Given the description of an element on the screen output the (x, y) to click on. 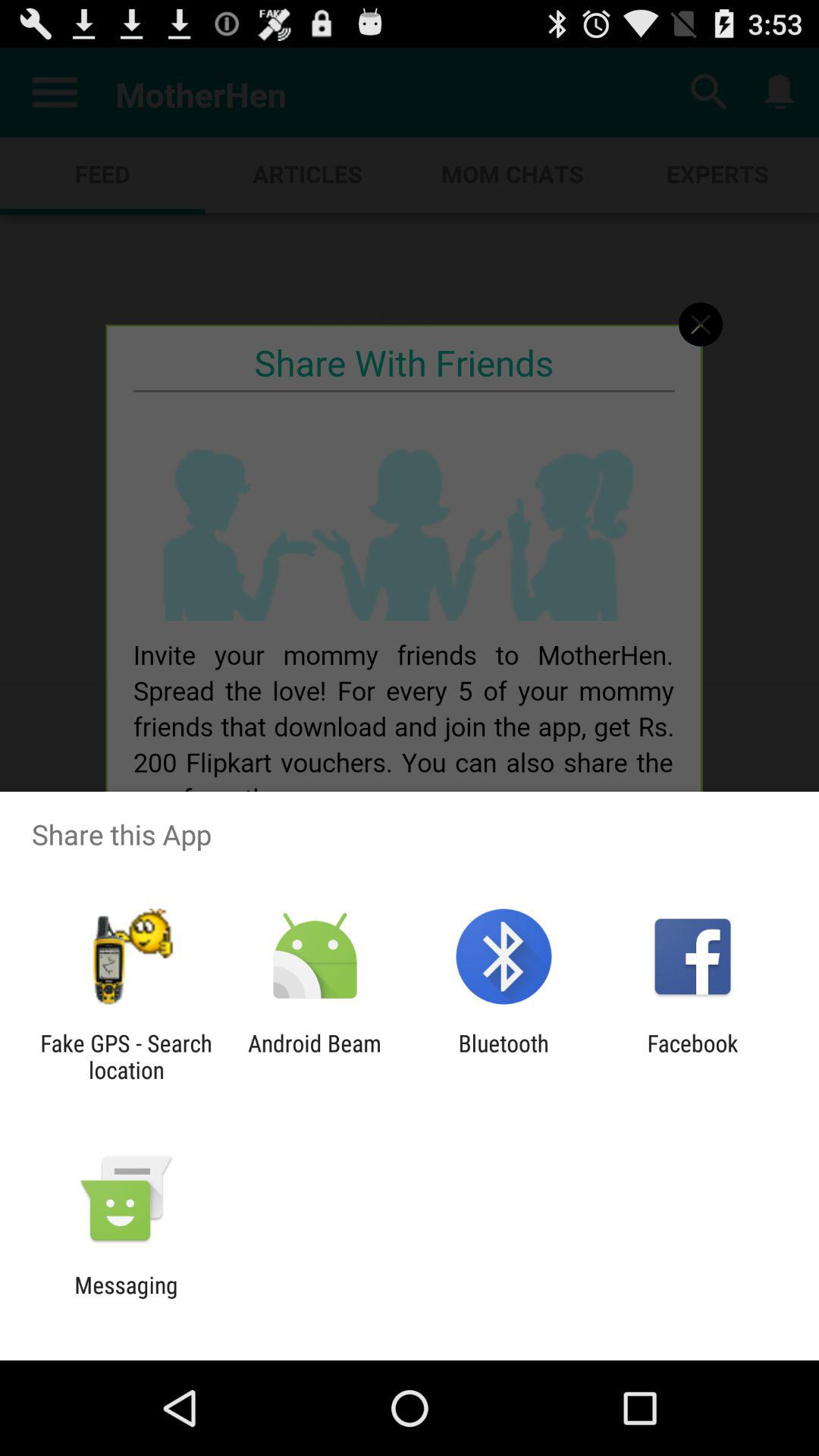
launch item next to the bluetooth item (314, 1056)
